Given the description of an element on the screen output the (x, y) to click on. 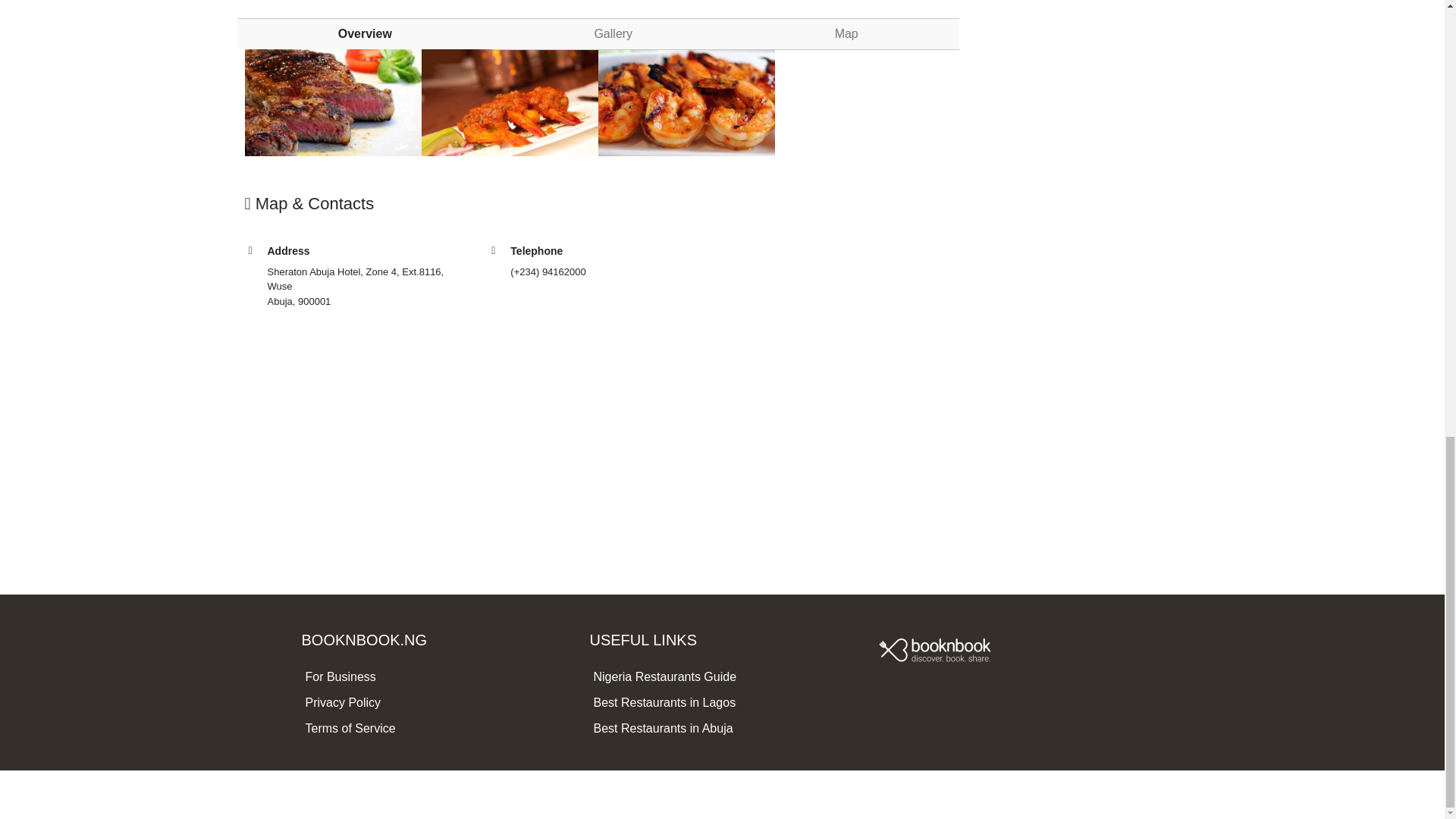
Terms of Service (349, 727)
Best Restaurants in Abuja (662, 727)
Best Restaurants in Lagos (663, 702)
Nigeria Restaurants Guide (664, 676)
Privacy Policy (342, 702)
For Business (339, 676)
